Given the description of an element on the screen output the (x, y) to click on. 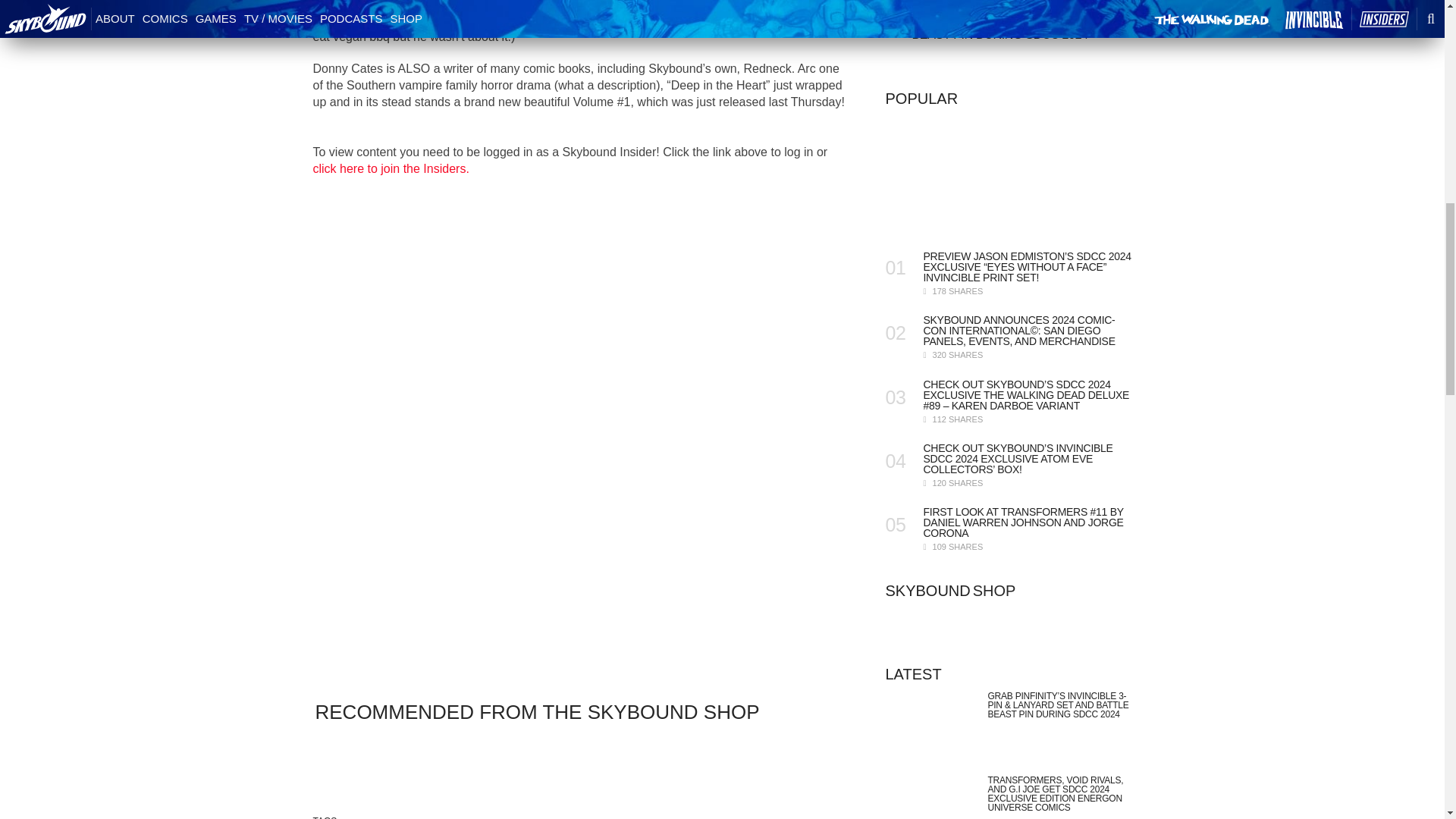
Donny Cates (347, 4)
click here to join the Insiders. (390, 168)
